Given the description of an element on the screen output the (x, y) to click on. 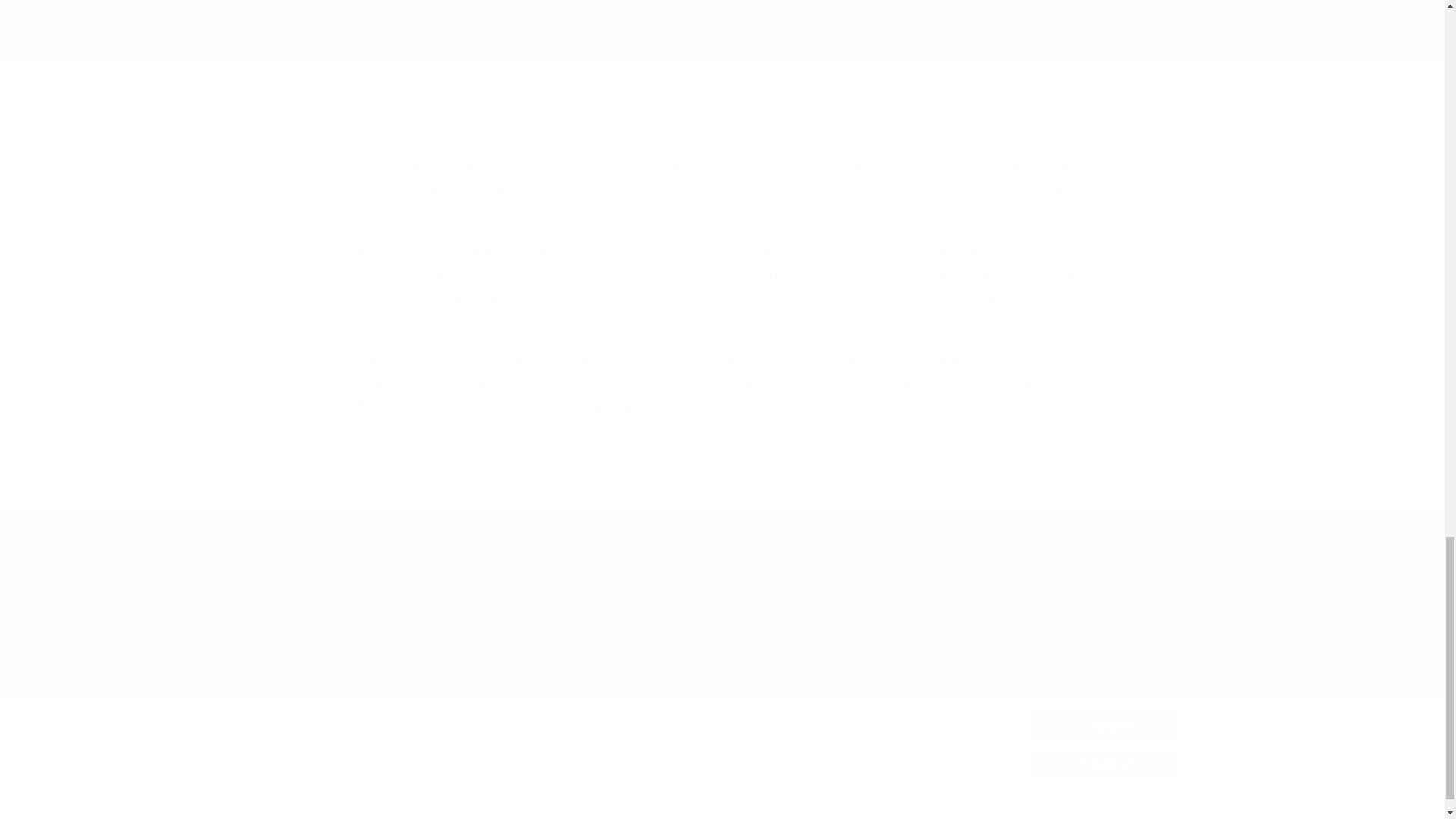
UEFA.com (769, 575)
Italiano (1029, 653)
Deutsch (1032, 606)
UEFA Foundation (786, 590)
About (578, 585)
Italiano (1029, 653)
UEFA Super Cup (223, 574)
Store (576, 601)
Event guide (592, 553)
Match (362, 553)
